Given the description of an element on the screen output the (x, y) to click on. 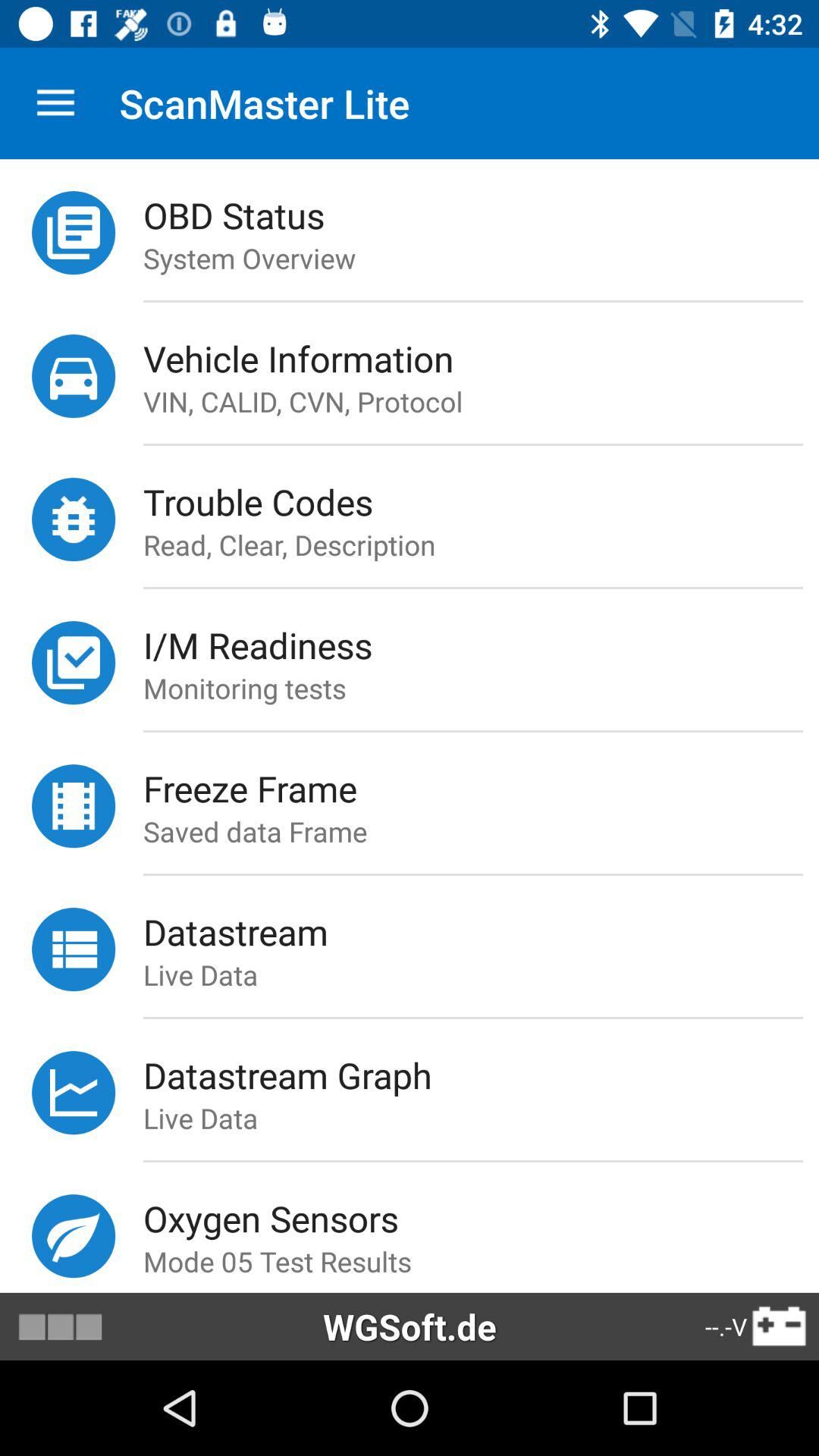
press the trouble codes item (481, 501)
